Given the description of an element on the screen output the (x, y) to click on. 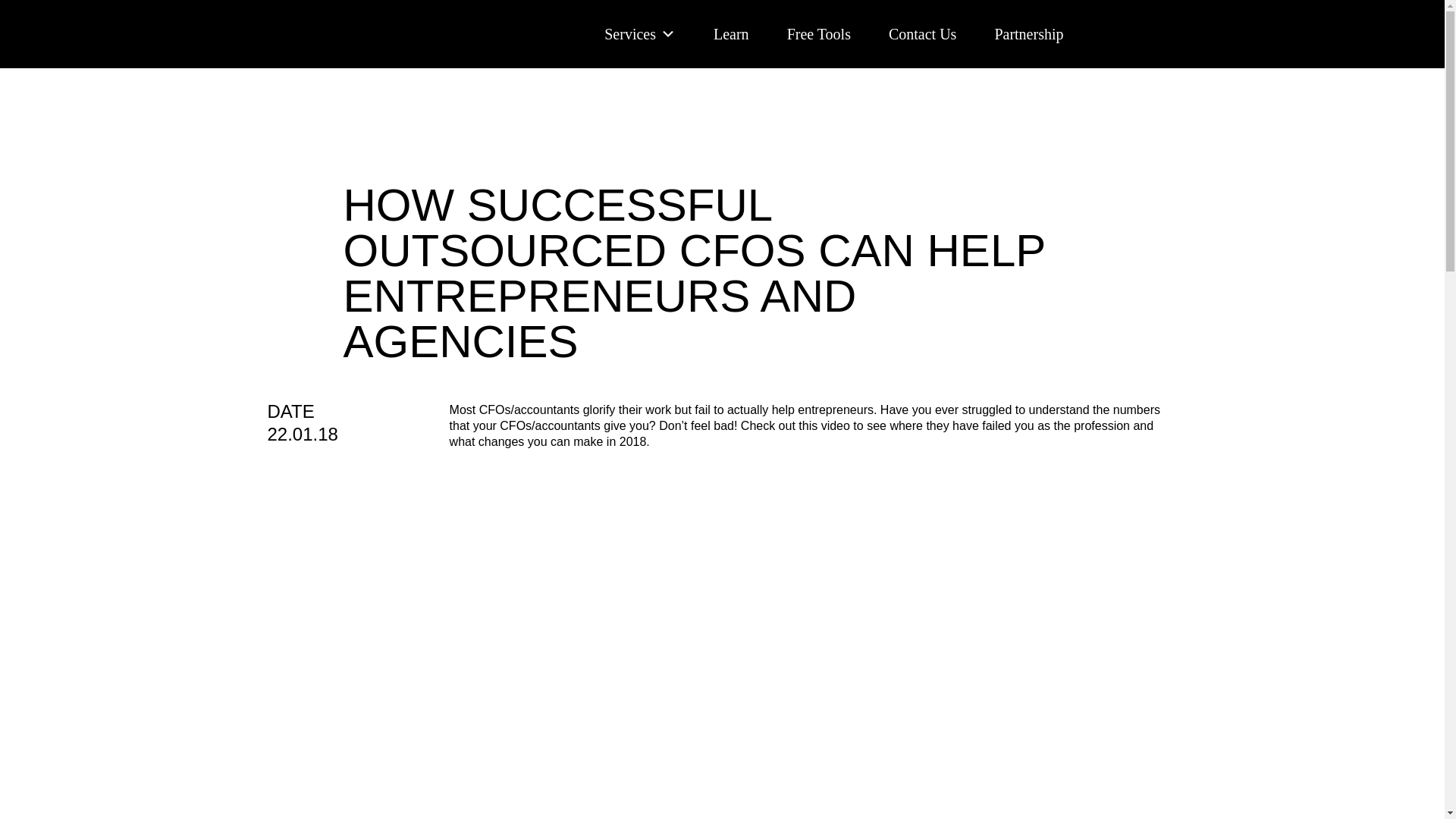
Partnership (1028, 33)
Free Tools (818, 33)
Contact Us (922, 33)
Services (639, 33)
